Given the description of an element on the screen output the (x, y) to click on. 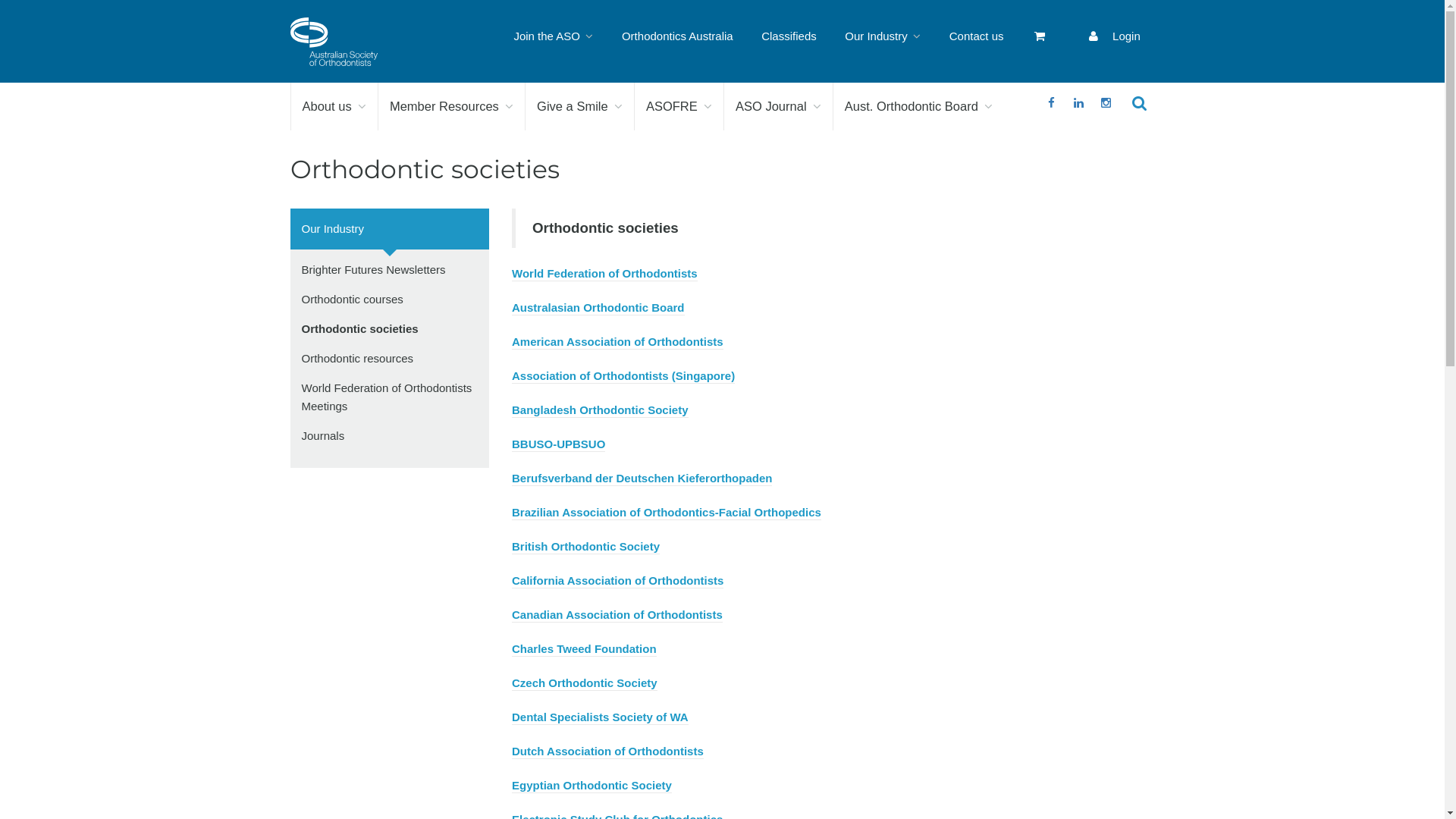
BBUSO-UPBSUO Element type: text (558, 444)
Journals Element type: text (323, 435)
World Federation of Orthodontists Element type: text (604, 273)
Orthodontics Australia Element type: text (676, 35)
Charles Tweed Foundation Element type: text (583, 649)
Berufsverband der Deutschen Kieferorthopaden Element type: text (641, 478)
Brighter Futures Newsletters Element type: text (373, 269)
Brazilian Association of Orthodontics-Facial Orthopedics Element type: text (666, 512)
Give a Smile Element type: text (579, 106)
Classifieds Element type: text (788, 35)
Toggle Search Element type: text (1139, 102)
Orthodontic resources Element type: text (357, 357)
Aust. Orthodontic Board Element type: text (918, 106)
Dutch Association of Orthodontists Element type: text (607, 751)
About us Element type: text (334, 106)
Egyptian Orthodontic Society Element type: text (591, 785)
ASOFRE Element type: text (678, 106)
Dental Specialists Society of WA Element type: text (599, 717)
Our Industry Element type: text (389, 228)
British Orthodontic Society Element type: text (585, 546)
Join the ASO Element type: text (553, 35)
Our Industry Element type: text (882, 35)
Member Resources Element type: text (451, 106)
Australasian Orthodontic Board Element type: text (597, 308)
Contact us Element type: text (976, 35)
Association of Orthodontists (Singapore) Element type: text (622, 376)
ASO Journal Element type: text (778, 106)
Login Element type: text (1113, 35)
California Association of Orthodontists Element type: text (617, 581)
World Federation of Orthodontists Meetings Element type: text (386, 396)
Canadian Association of Orthodontists Element type: text (616, 615)
American Association of Orthodontists Element type: text (617, 342)
Czech Orthodontic Society Element type: text (584, 683)
Bangladesh Orthodontic Society Element type: text (599, 410)
Orthodontic courses Element type: text (352, 298)
Orthodontic societies Element type: text (359, 328)
